Given the description of an element on the screen output the (x, y) to click on. 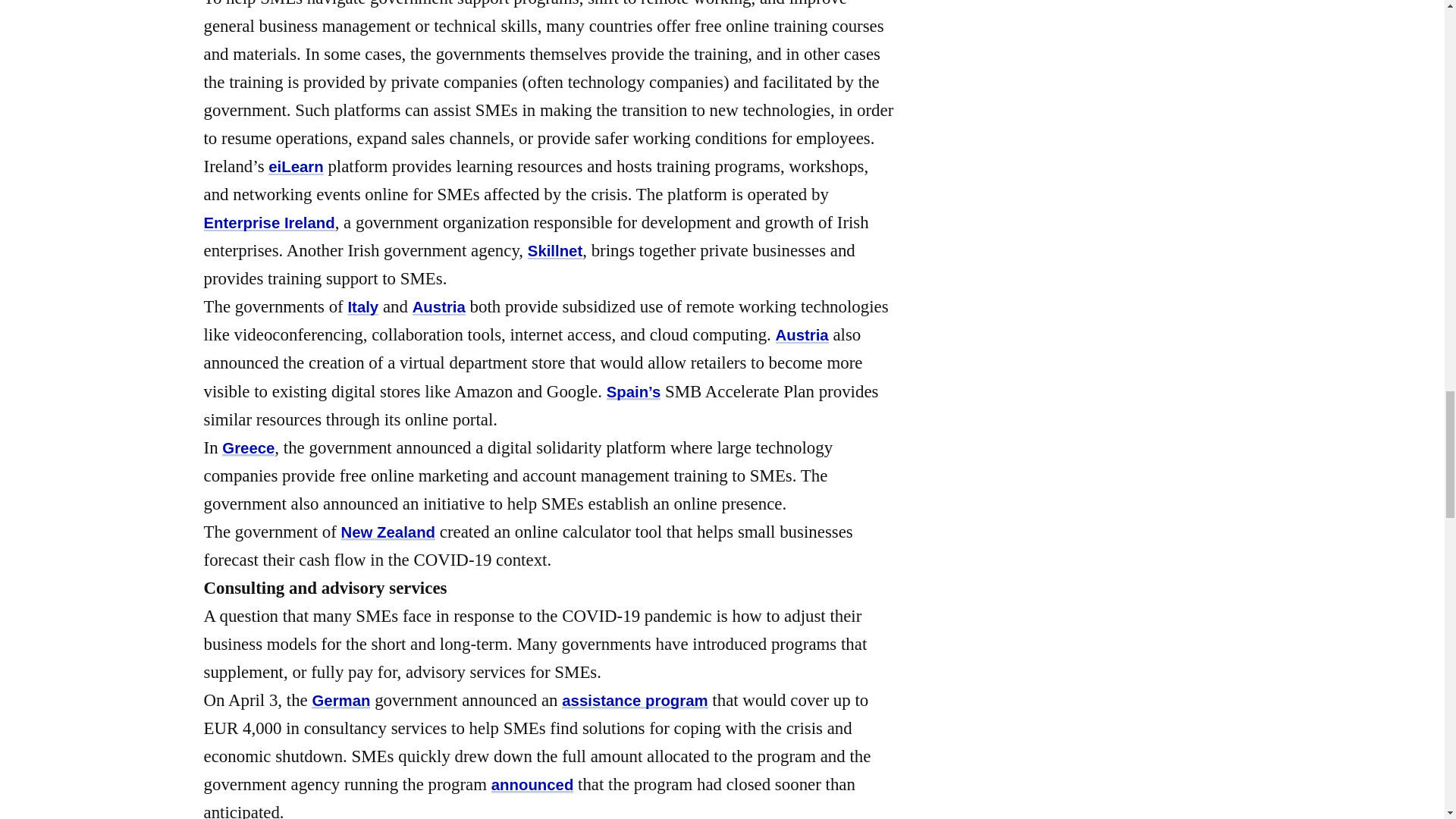
eiLearn (295, 166)
